Given the description of an element on the screen output the (x, y) to click on. 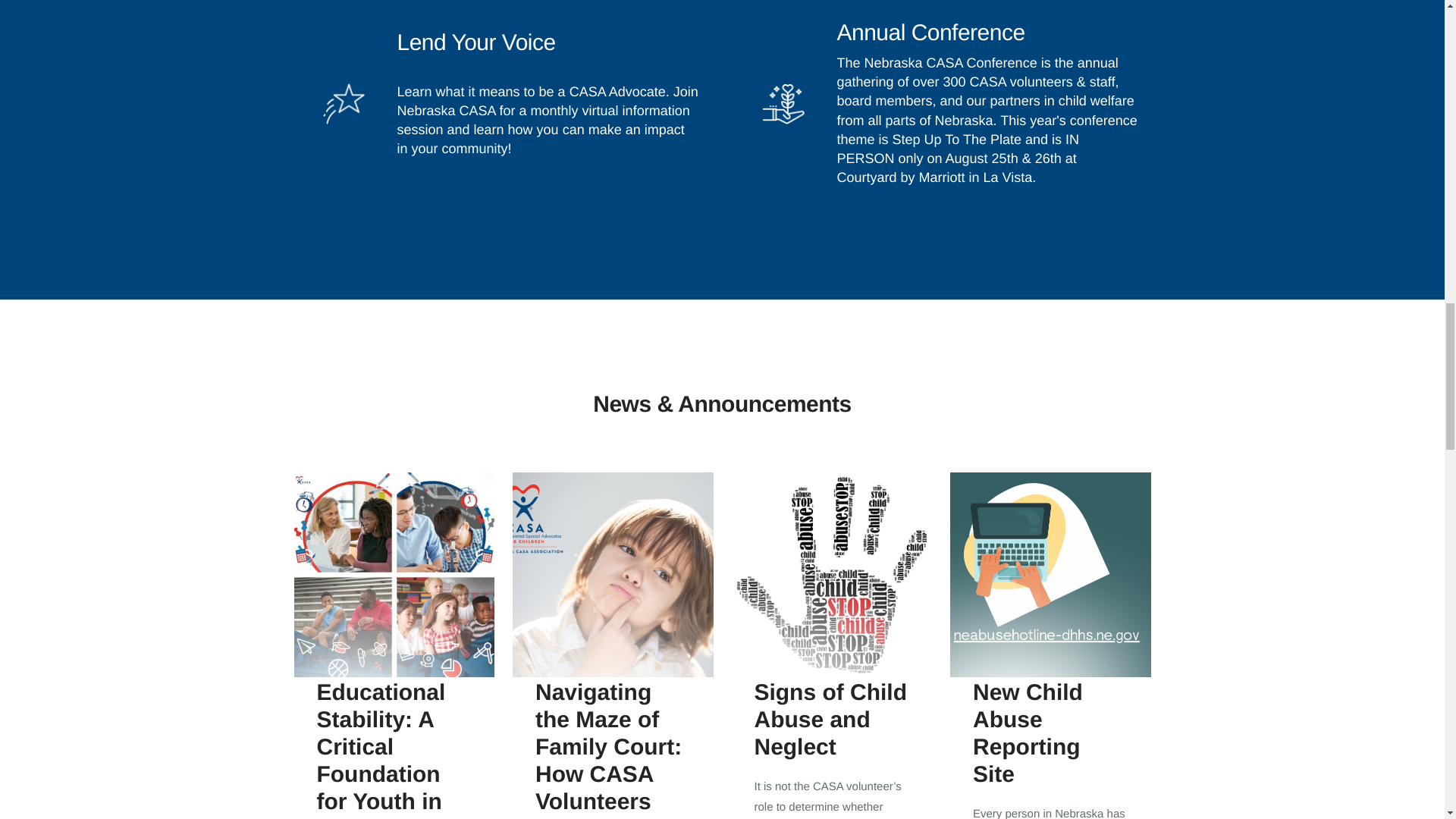
Annual Conference (931, 32)
Lend Your Voice (476, 42)
